Given the description of an element on the screen output the (x, y) to click on. 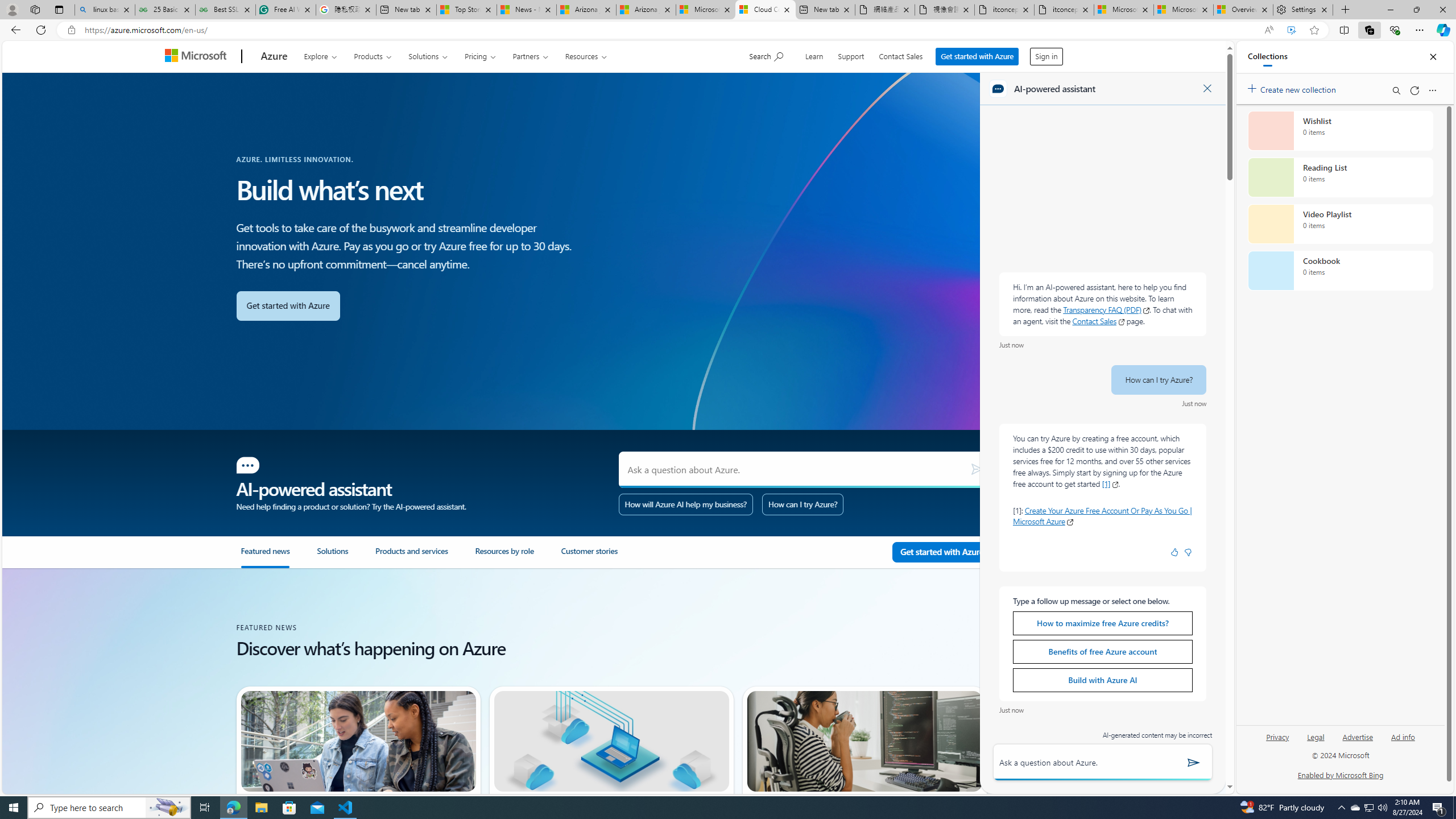
Free AI Writing Assistance for Students | Grammarly (285, 9)
How can I try Azure? (802, 504)
Message input box (1084, 762)
Customer stories (588, 555)
Show search input (766, 54)
Ad info (1402, 741)
Cookbook collection, 0 items (1339, 270)
Azure (274, 56)
